Given the description of an element on the screen output the (x, y) to click on. 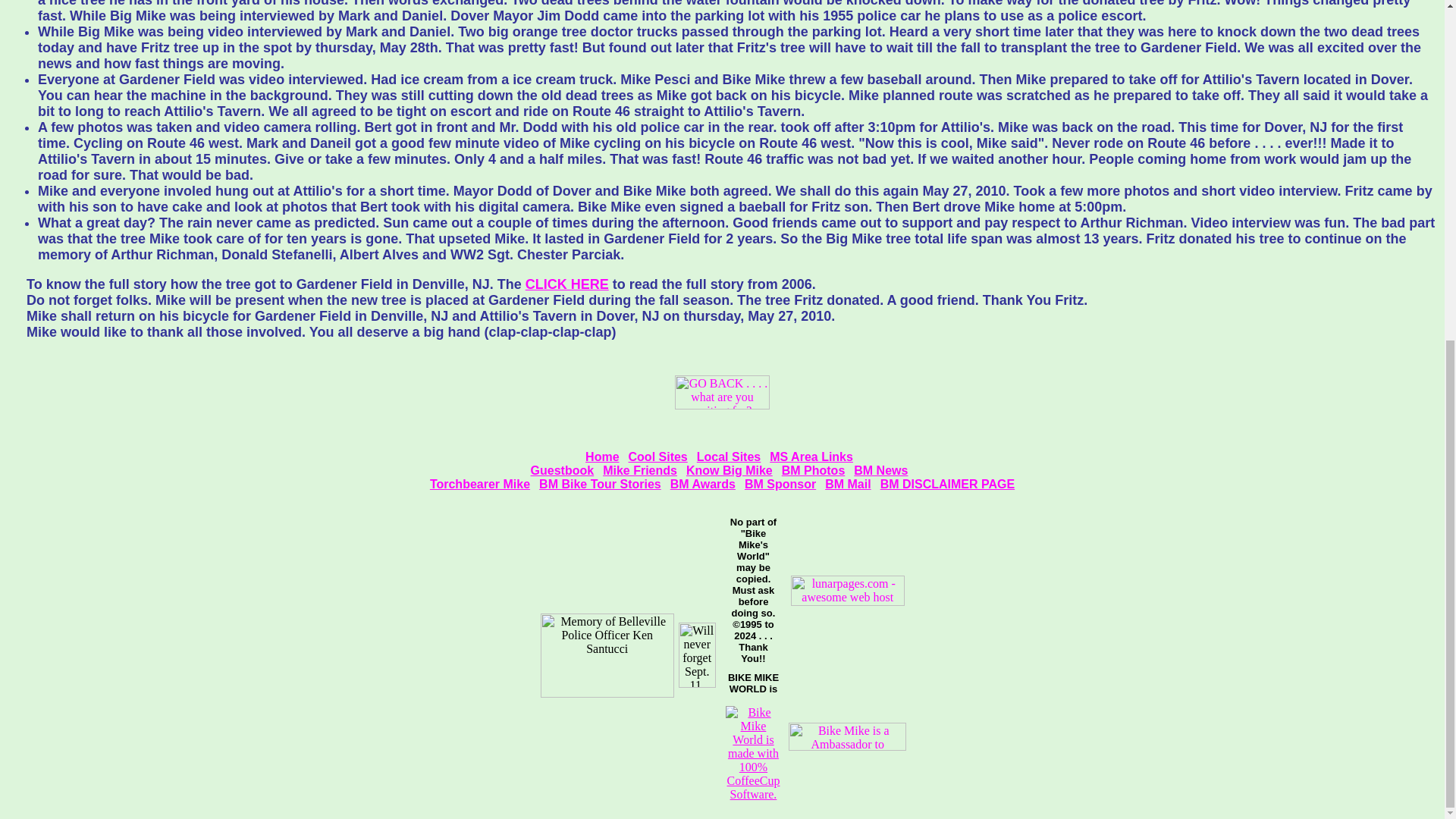
BM Mail (847, 483)
Guestbook (562, 470)
MS Area Links (811, 456)
BM Awards (702, 483)
CLICK HERE (566, 283)
Know Big Mike (729, 470)
BM Sponsor (779, 483)
Mike Friends (639, 470)
BM Photos (813, 470)
Torchbearer Mike (479, 483)
